Given the description of an element on the screen output the (x, y) to click on. 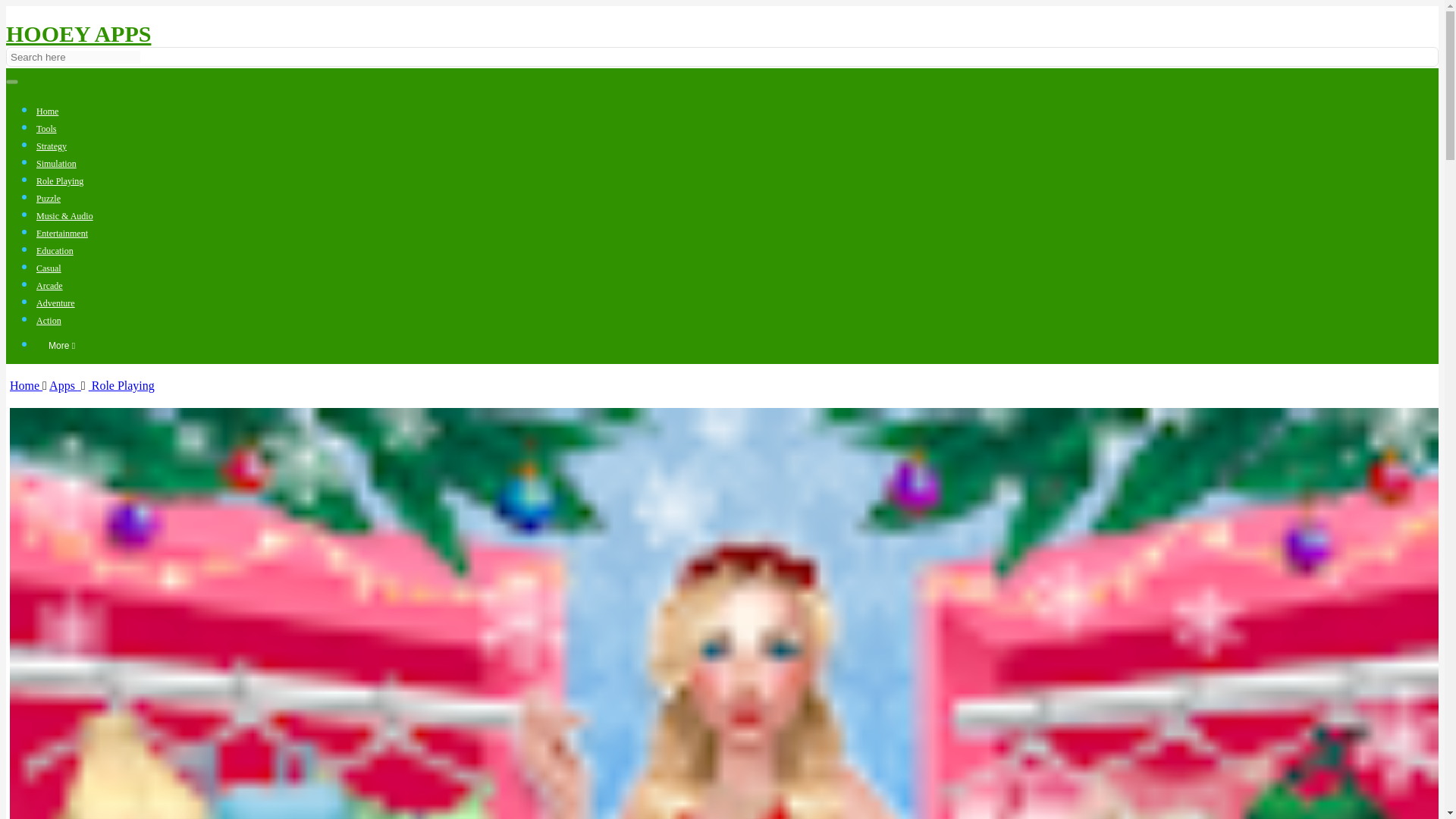
Home (26, 385)
Action (48, 320)
Arcade (49, 285)
Education (55, 250)
Strategy (51, 145)
Simulation (56, 163)
Adventure (55, 303)
Casual (48, 267)
Tools (46, 128)
HOOEY APPS (78, 33)
Puzzle (48, 198)
More (61, 345)
Apps  (65, 385)
 Role Playing (121, 385)
Home (47, 111)
